Given the description of an element on the screen output the (x, y) to click on. 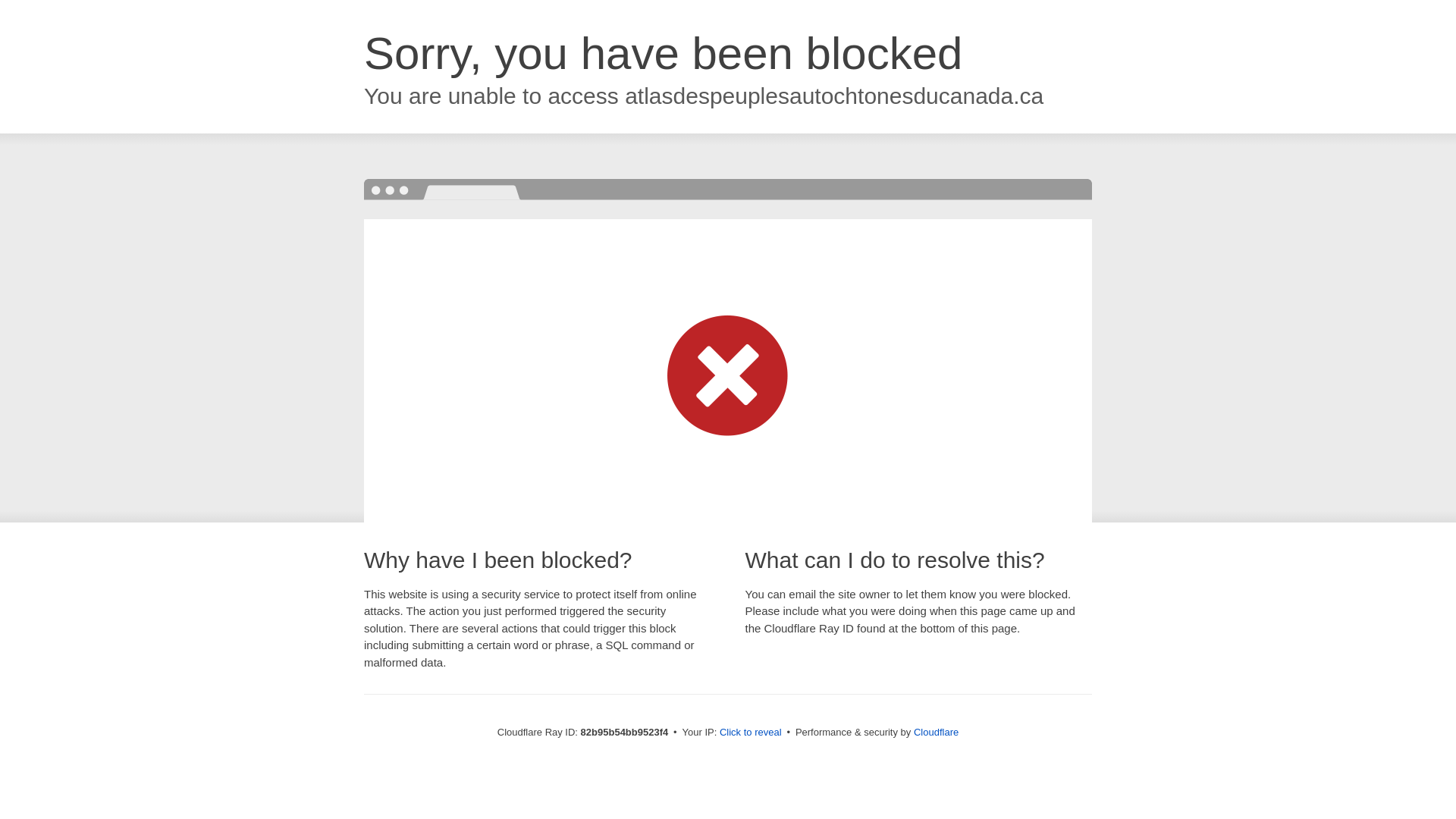
Cloudflare Element type: text (935, 731)
Click to reveal Element type: text (750, 732)
